Given the description of an element on the screen output the (x, y) to click on. 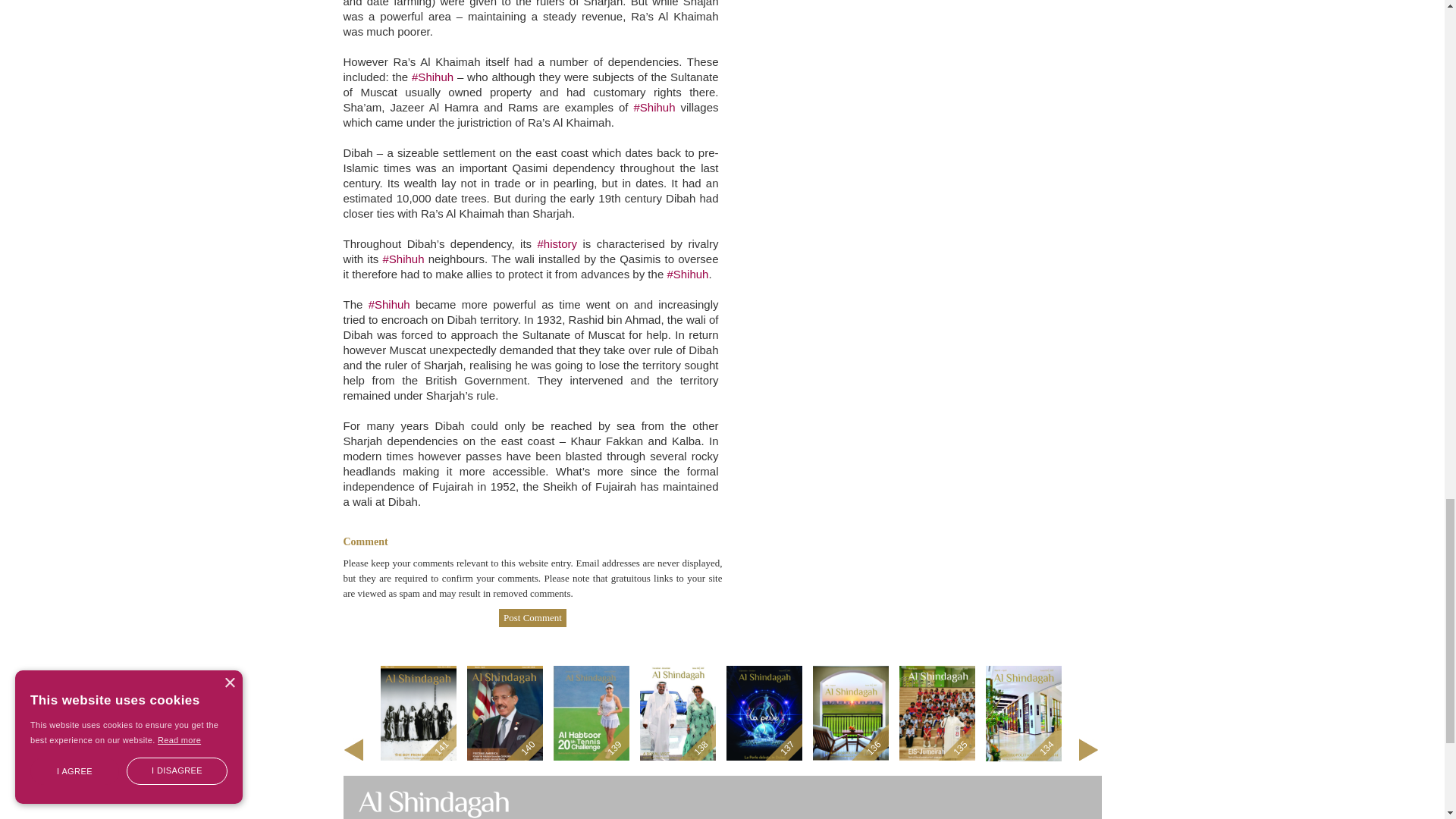
Seach website for:  Shihuh (654, 106)
Seach website for:  Shihuh (389, 304)
Seach website for:  Shihuh (402, 258)
Seach website for:  Shihuh (432, 76)
Seach website for:  history (557, 243)
Seach website for:  Shihuh (686, 273)
Post Comment (532, 618)
